Given the description of an element on the screen output the (x, y) to click on. 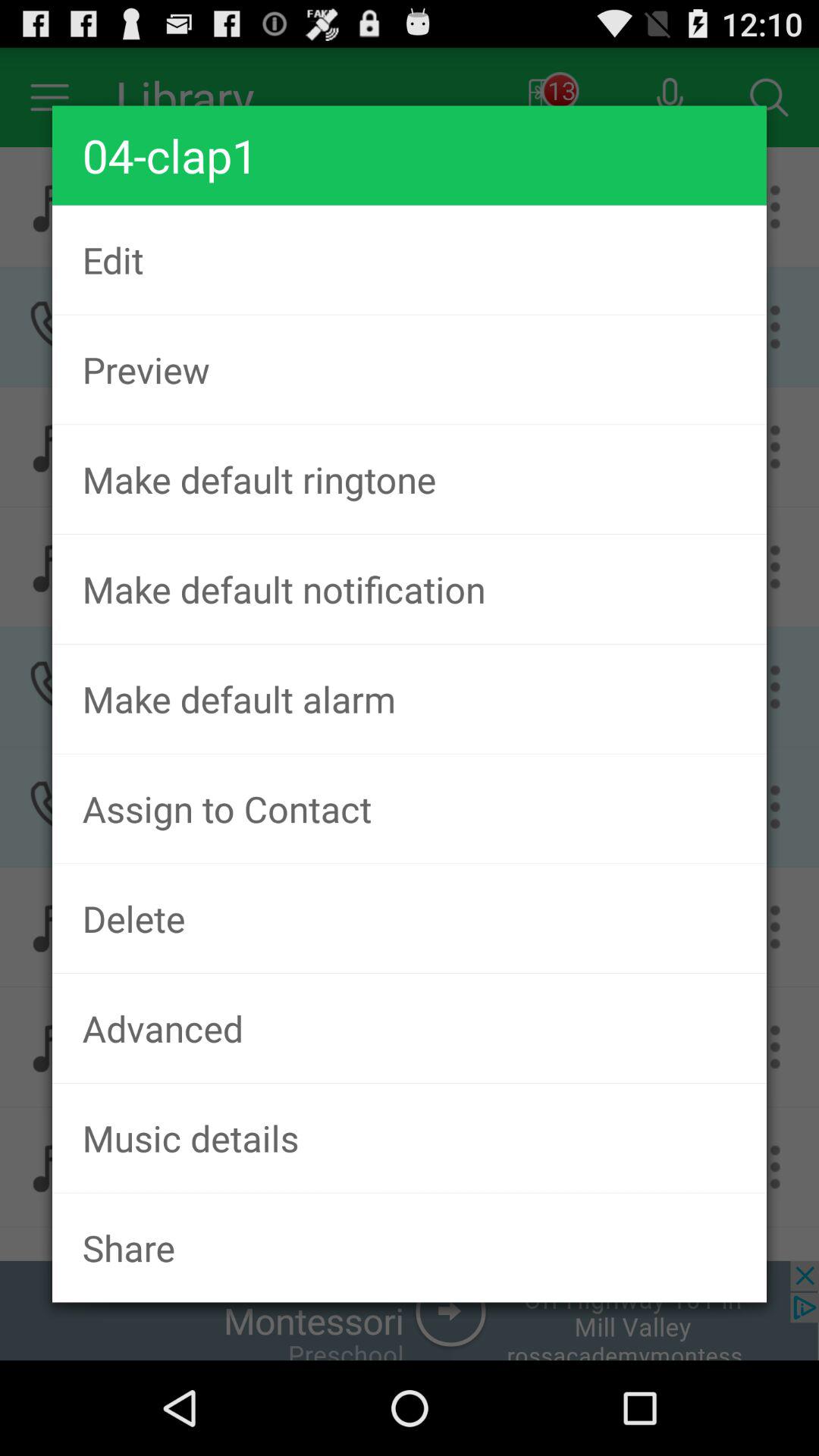
click the app below advanced app (409, 1137)
